Given the description of an element on the screen output the (x, y) to click on. 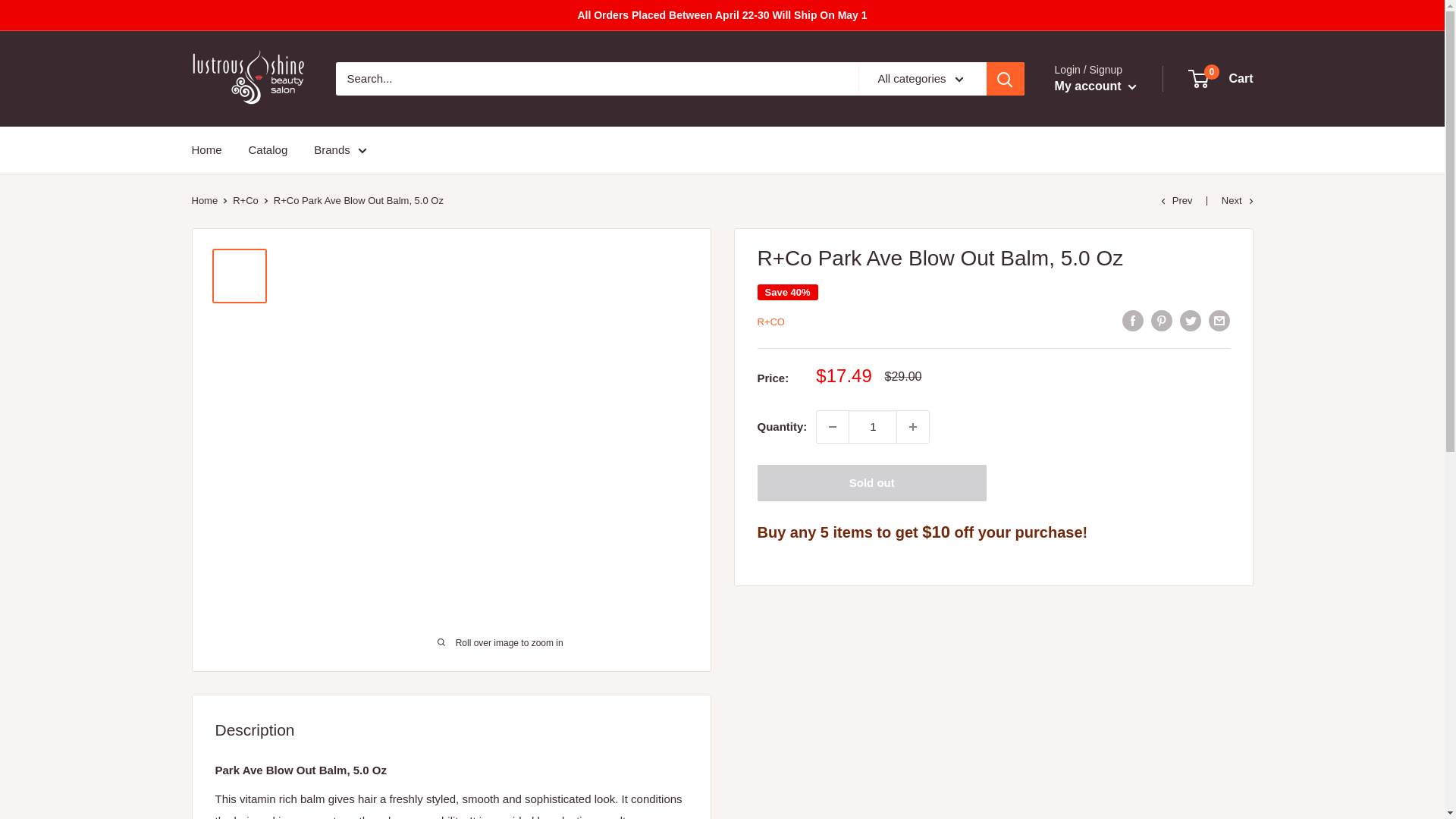
1 (872, 427)
Decrease quantity by 1 (832, 427)
My account (1095, 86)
Increase quantity by 1 (912, 427)
